Given the description of an element on the screen output the (x, y) to click on. 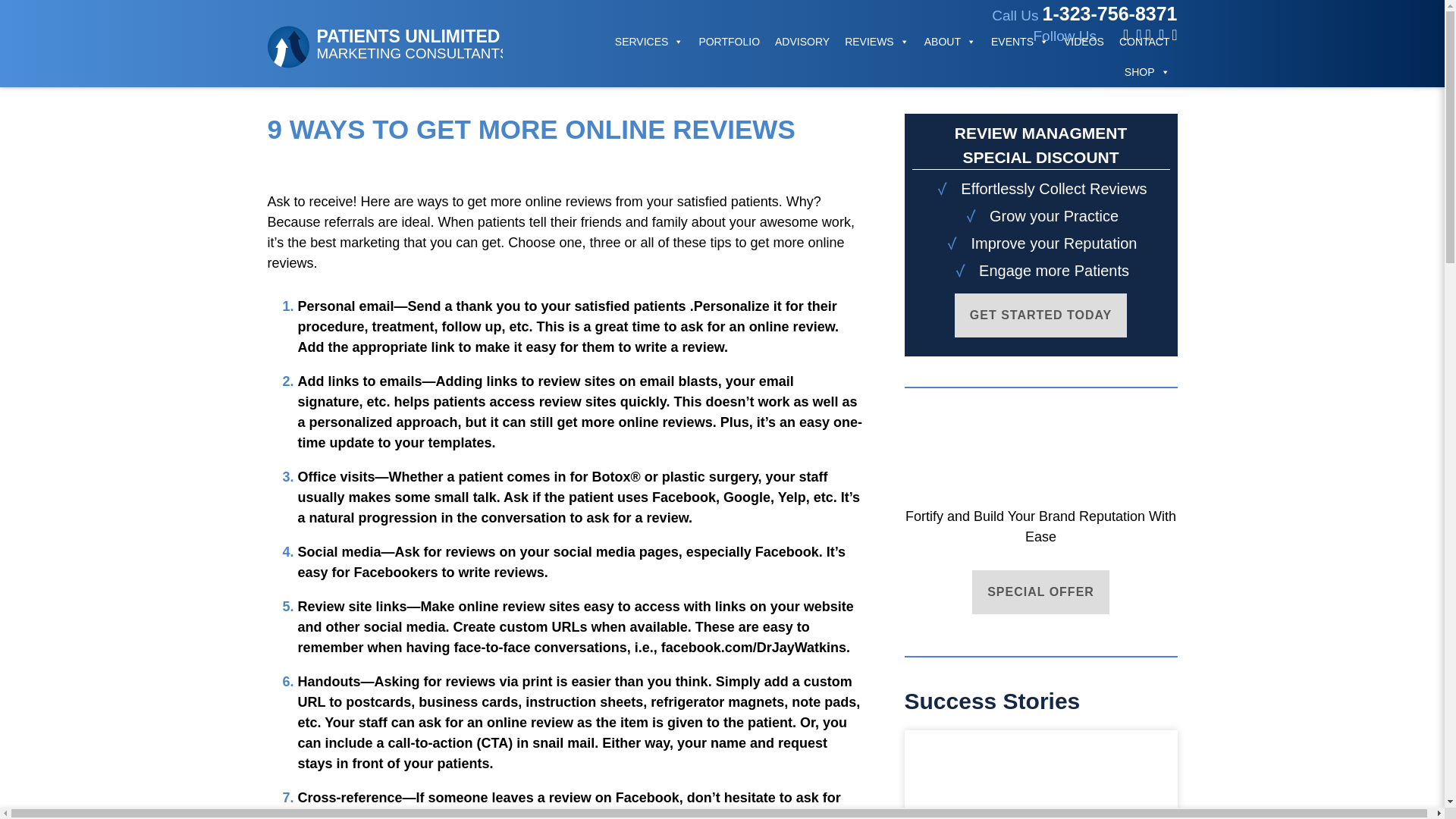
SERVICES (649, 41)
Read Our Reviews (506, 1)
1-323-756-8371 (1109, 13)
View all our services (649, 41)
PUMC on Google My Business (405, 42)
